Given the description of an element on the screen output the (x, y) to click on. 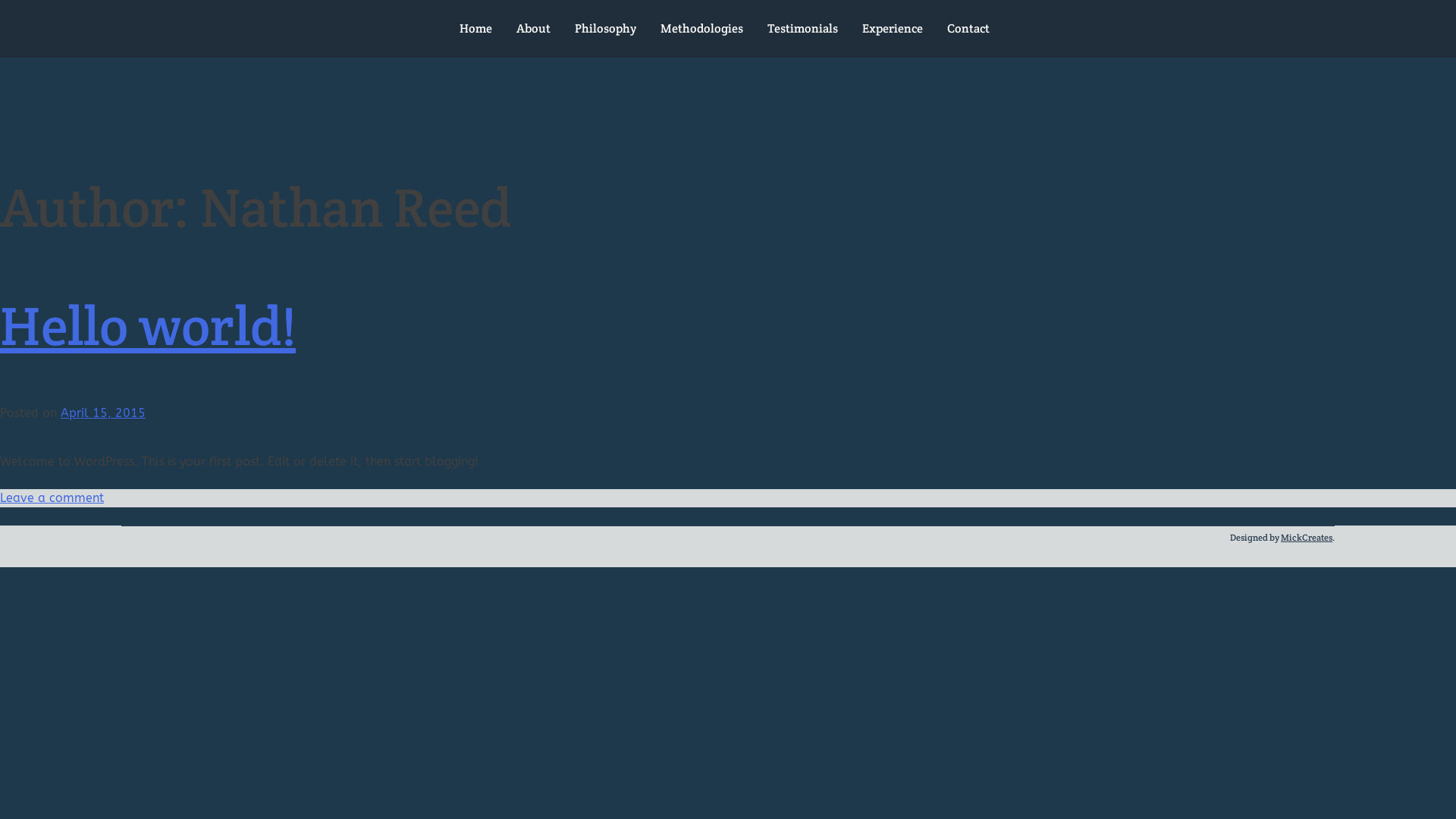
MickCreates Element type: text (1306, 536)
Testimonials Element type: text (802, 28)
Contact Element type: text (967, 28)
Home Element type: text (475, 28)
Leave a comment Element type: text (51, 497)
Methodologies Element type: text (700, 28)
Experience Element type: text (891, 28)
April 15, 2015 Element type: text (102, 412)
About Element type: text (532, 28)
Hello world! Element type: text (147, 325)
Philosophy Element type: text (605, 28)
